Given the description of an element on the screen output the (x, y) to click on. 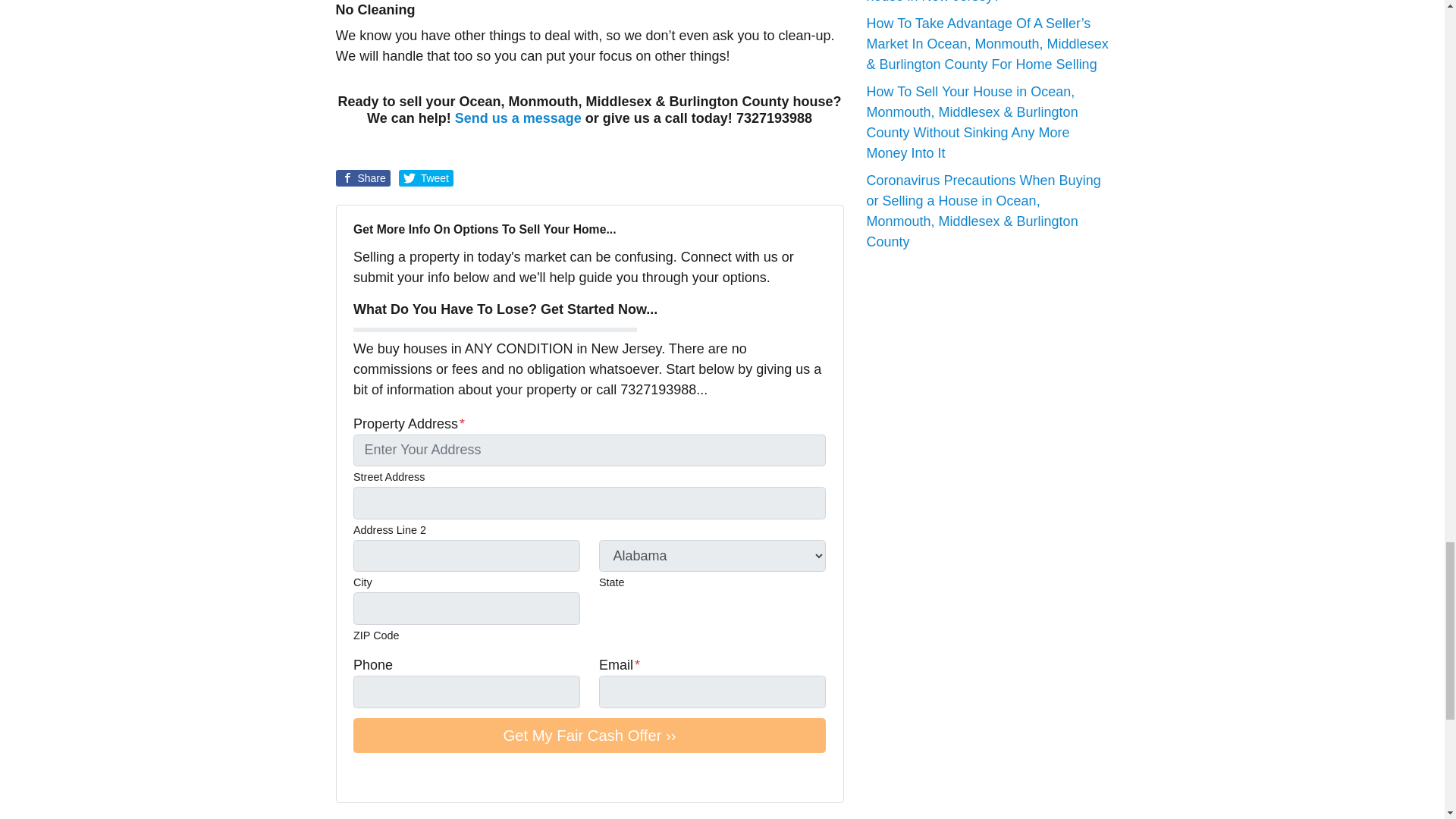
Send us a message (517, 118)
YouTube (383, 775)
Tweet (425, 177)
Share on Facebook (362, 177)
Share on Twitter (425, 177)
Facebook (362, 775)
What happens when you inherit a house in New Jersey? (967, 2)
Share (362, 177)
